Given the description of an element on the screen output the (x, y) to click on. 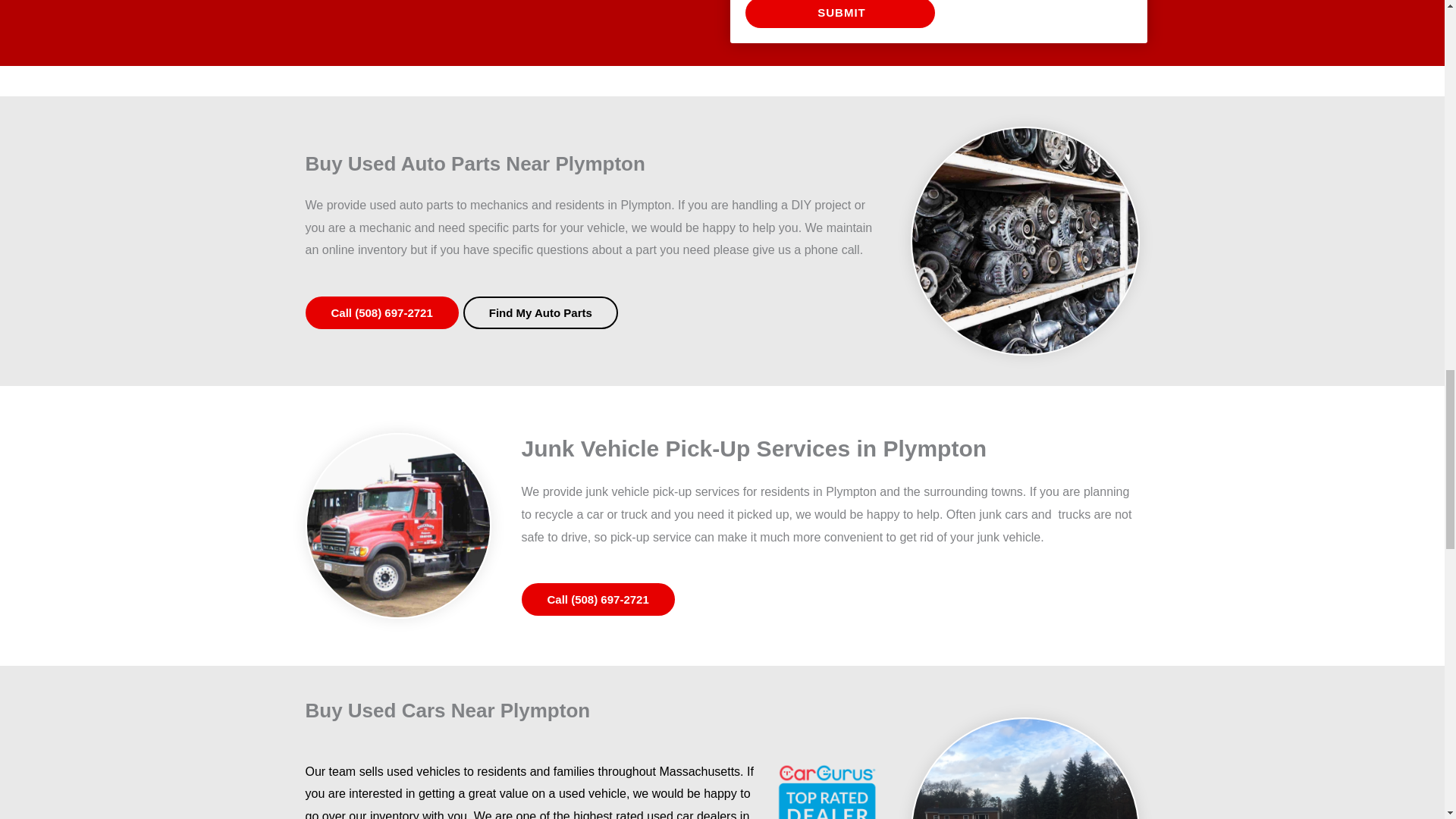
SUBMIT (839, 13)
parts-shelf (1024, 240)
Find My Auto Parts (540, 312)
truck (397, 526)
